Given the description of an element on the screen output the (x, y) to click on. 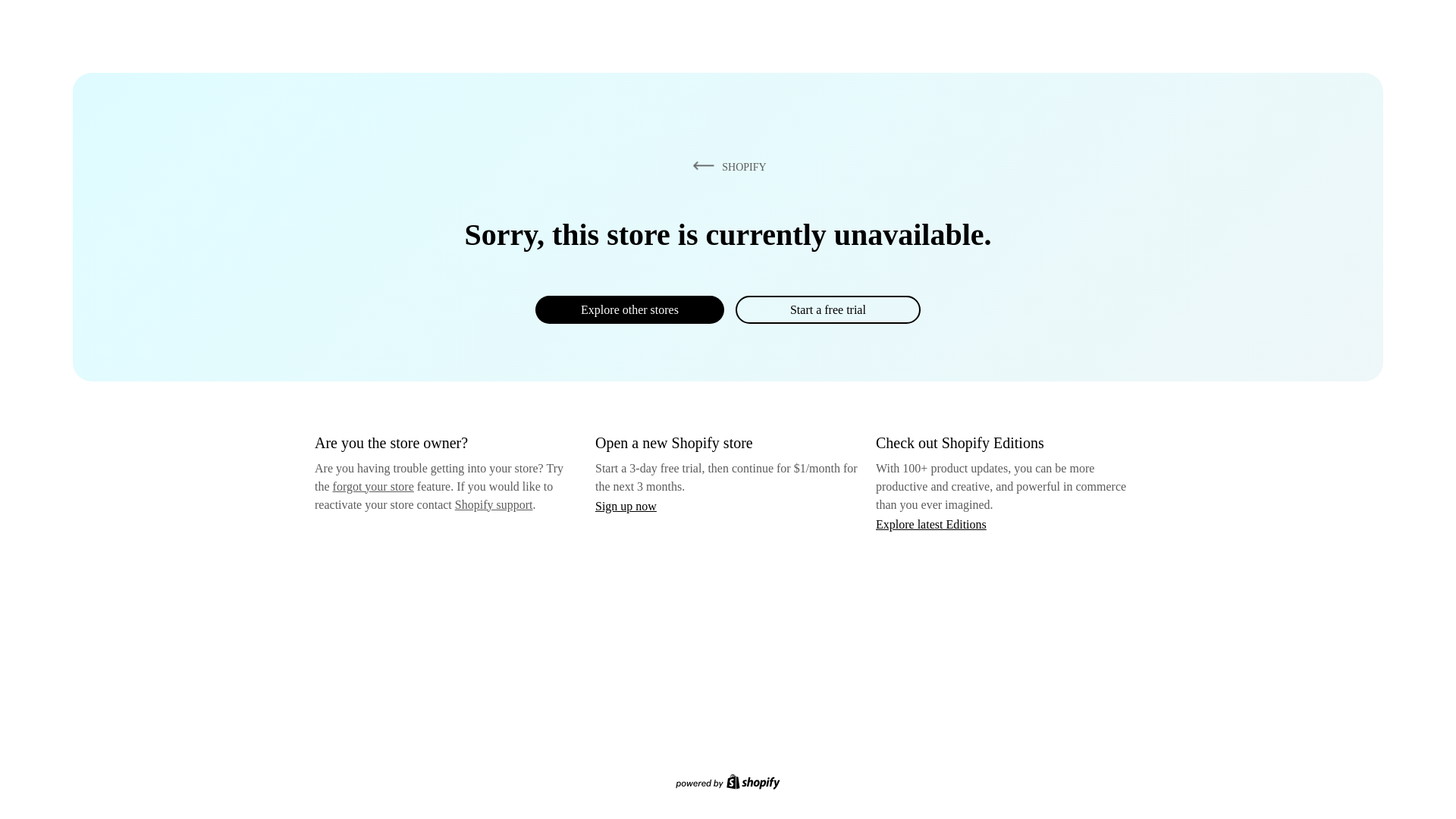
Explore latest Editions (931, 523)
forgot your store (373, 486)
Start a free trial (827, 309)
Sign up now (625, 505)
Shopify support (493, 504)
SHOPIFY (726, 166)
Explore other stores (629, 309)
